Given the description of an element on the screen output the (x, y) to click on. 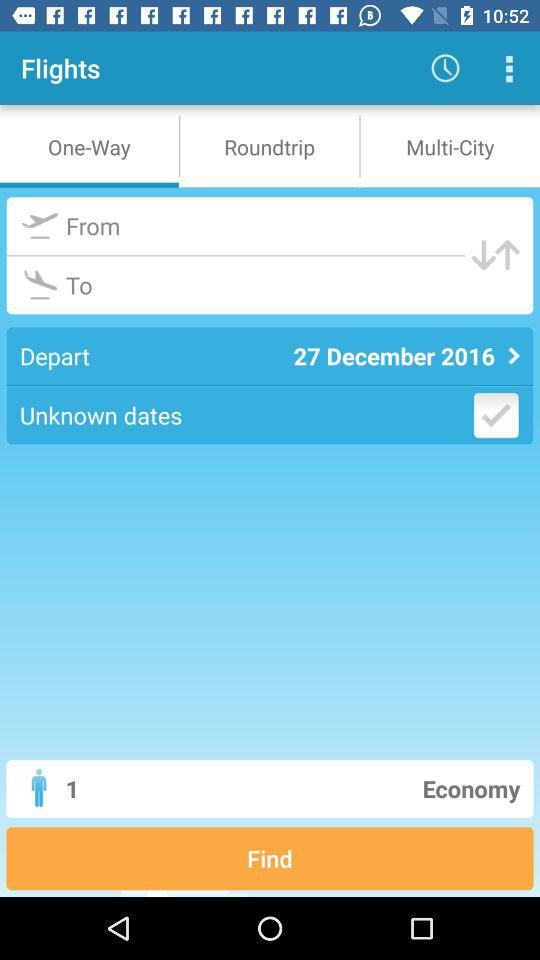
click item above find item (346, 788)
